Given the description of an element on the screen output the (x, y) to click on. 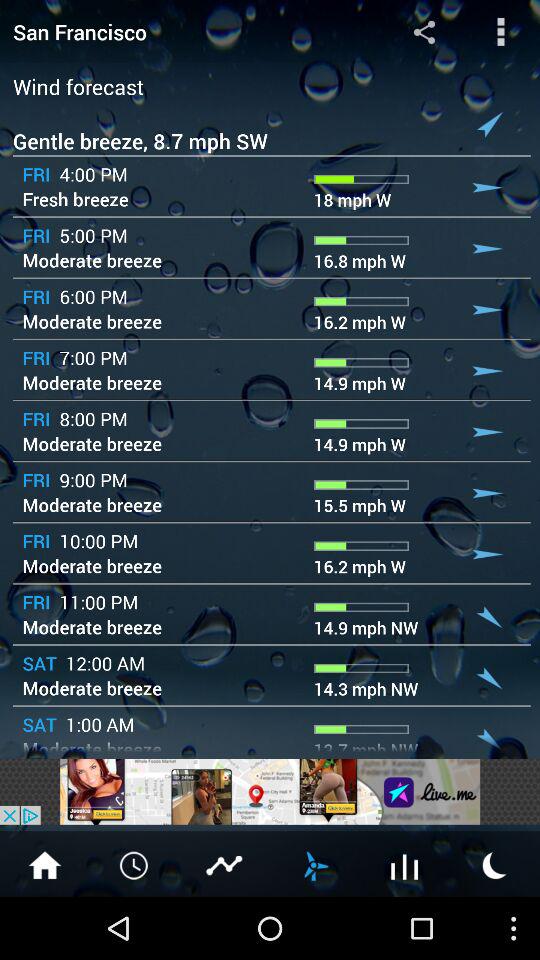
go to home (45, 864)
